Given the description of an element on the screen output the (x, y) to click on. 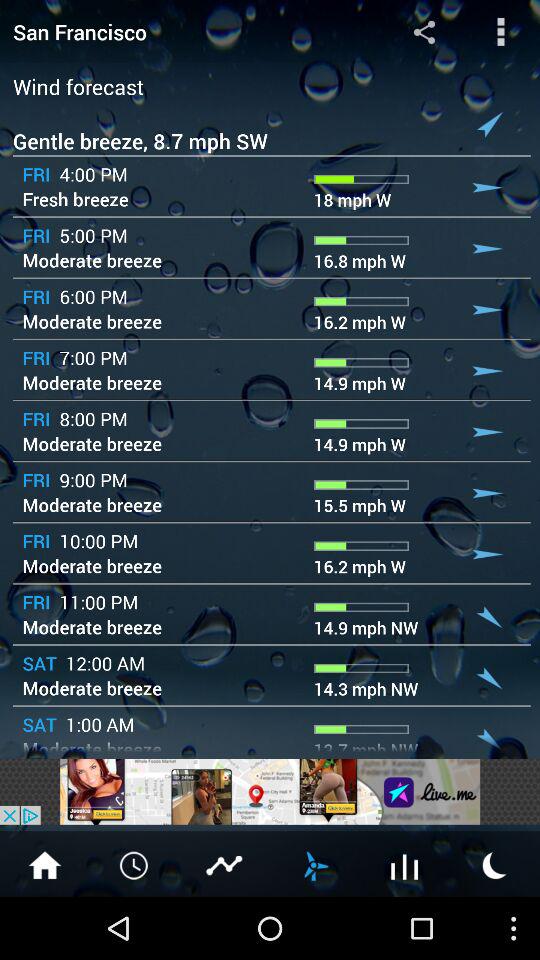
go to home (45, 864)
